Given the description of an element on the screen output the (x, y) to click on. 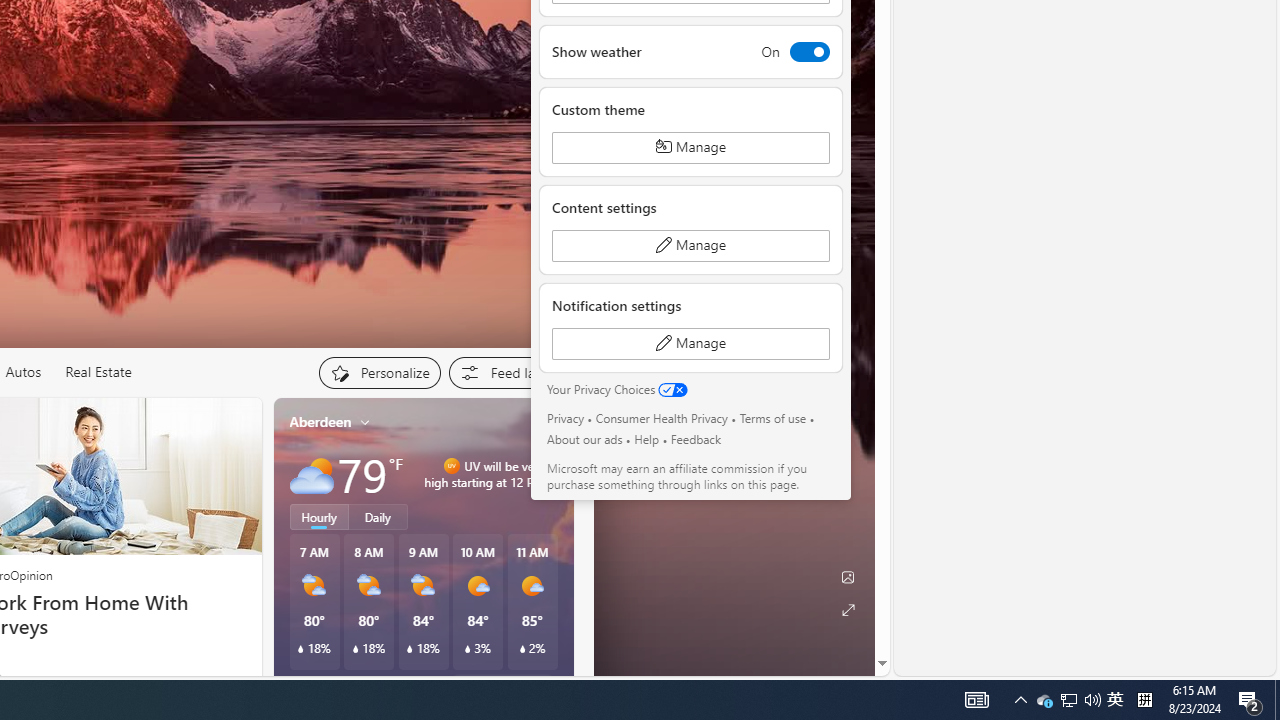
Real Estate (98, 371)
About our ads (584, 439)
Your Privacy Choices (617, 390)
Mostly cloudy (311, 474)
Personalize your feed" (379, 372)
Expand background (847, 610)
Feed settings (510, 372)
Class: weather-arrow-glyph (554, 474)
